Given the description of an element on the screen output the (x, y) to click on. 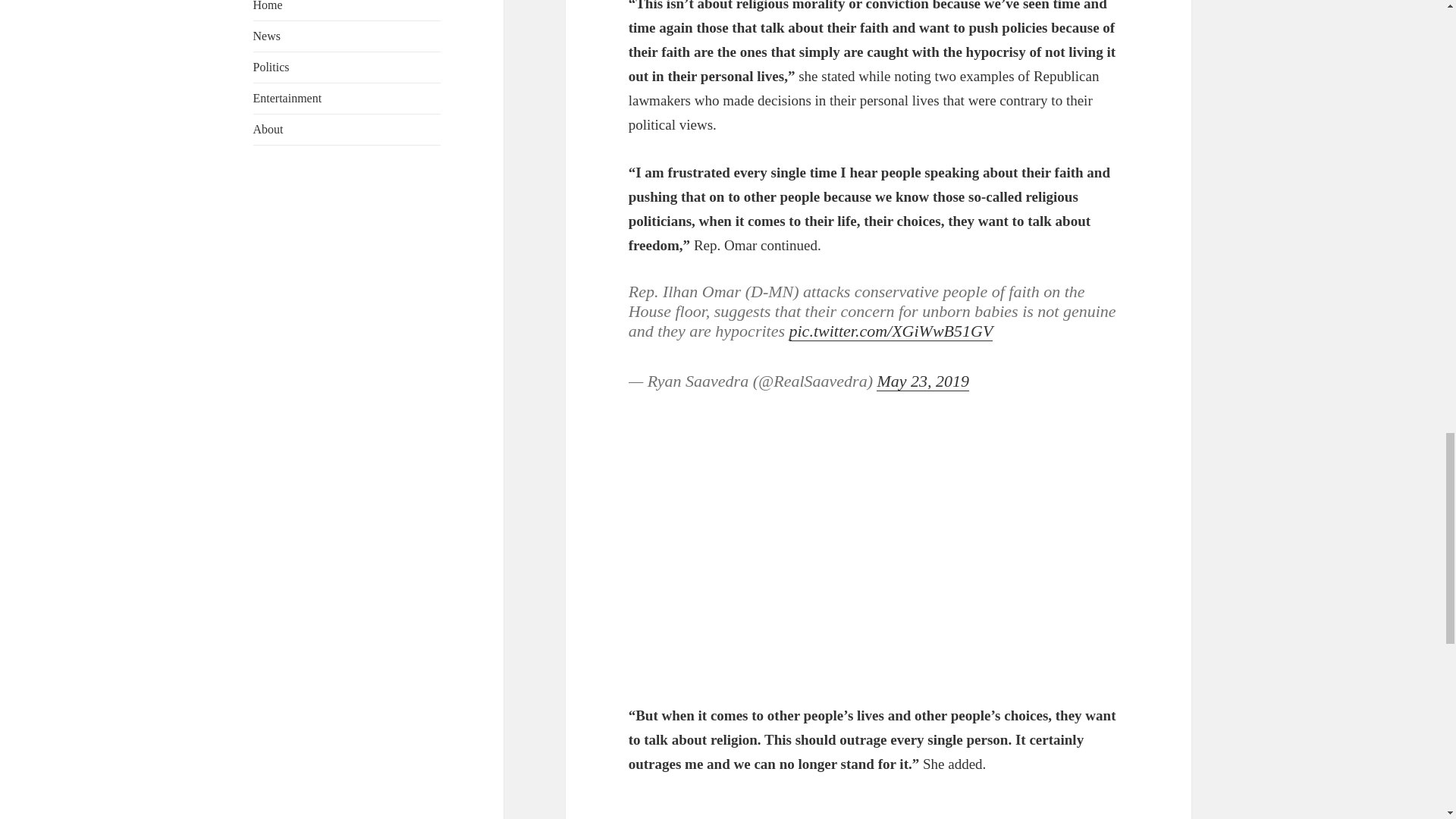
Twitter (878, 356)
3rd party ad content (878, 566)
May 23, 2019 (922, 381)
